Given the description of an element on the screen output the (x, y) to click on. 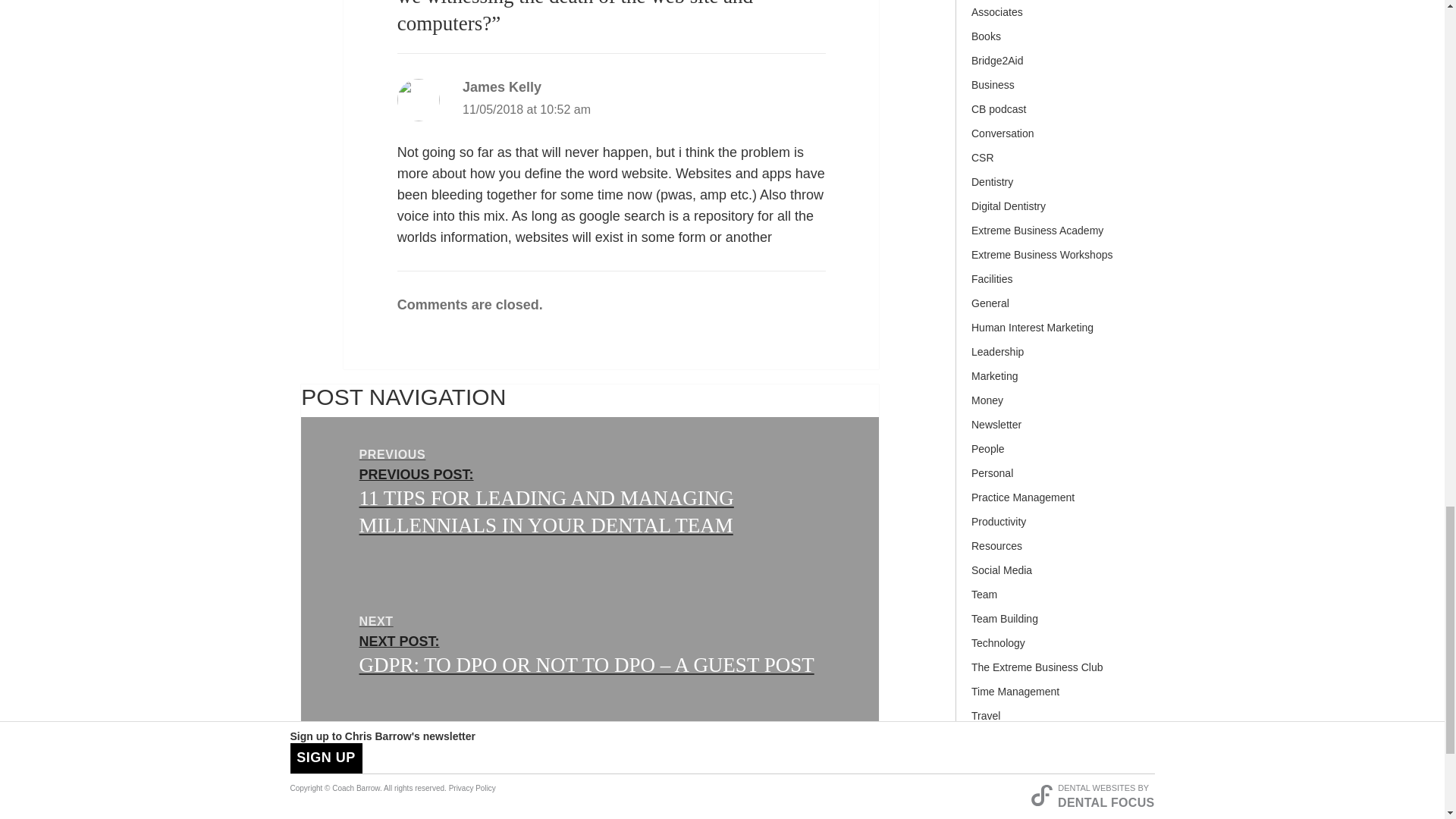
Associates (1056, 15)
CB podcast (1056, 112)
Dentistry (1056, 185)
Business (1056, 88)
Books (1056, 39)
CSR (1056, 161)
Bridge2Aid (1056, 64)
Advertising (1056, 2)
Conversation (1056, 137)
